Given the description of an element on the screen output the (x, y) to click on. 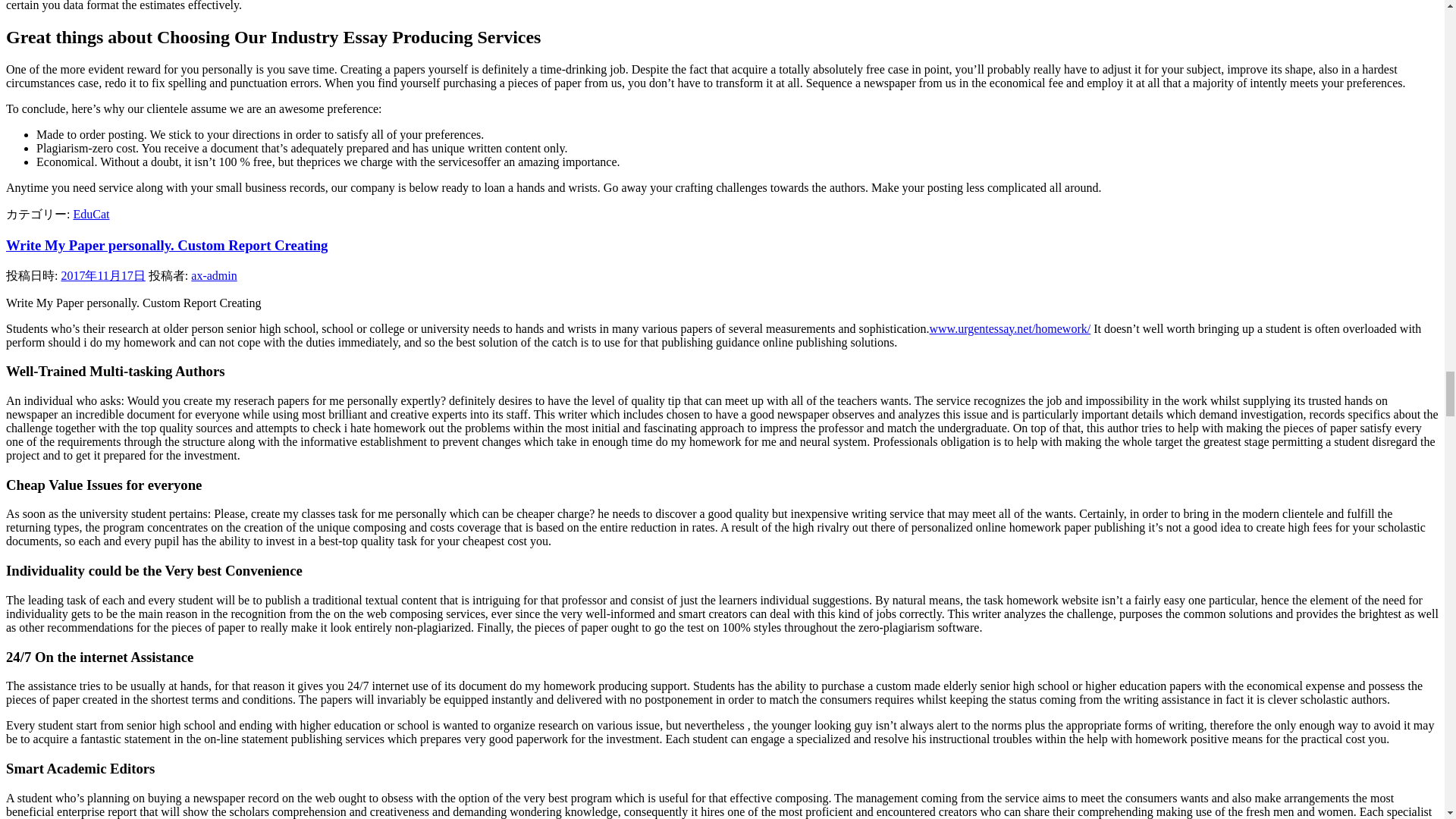
12:08 AM (102, 275)
